Given the description of an element on the screen output the (x, y) to click on. 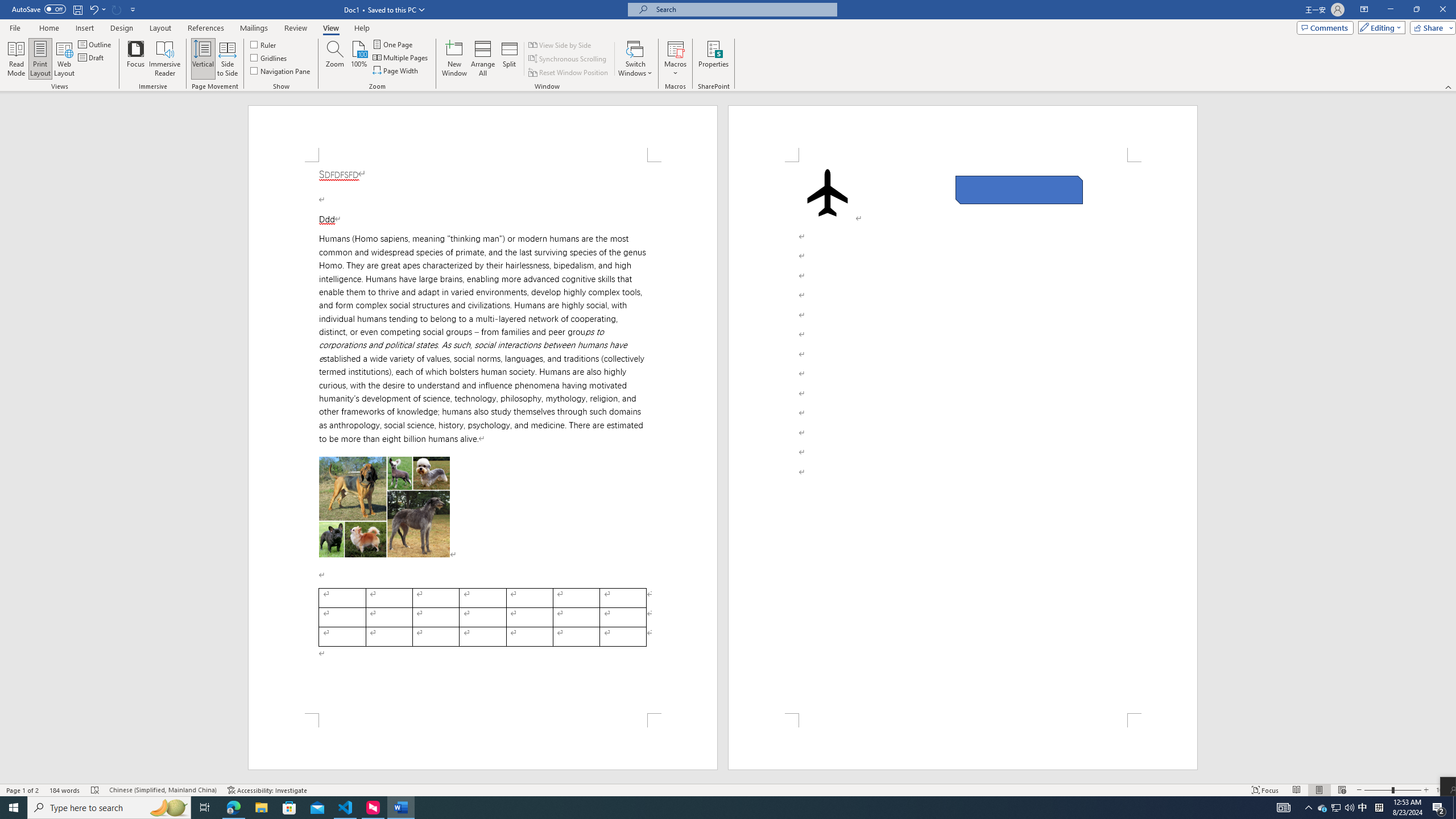
Quick Access Toolbar (74, 9)
Customize Quick Access Toolbar (133, 9)
Undo Apply Quick Style Set (96, 9)
One Page (393, 44)
Focus (135, 58)
Synchronous Scrolling (568, 58)
Airplane with solid fill (827, 192)
Focus  (1265, 790)
Comments (1325, 27)
Navigation Pane (281, 69)
Web Layout (63, 58)
Language Chinese (Simplified, Mainland China) (162, 790)
New Window (454, 58)
